Given the description of an element on the screen output the (x, y) to click on. 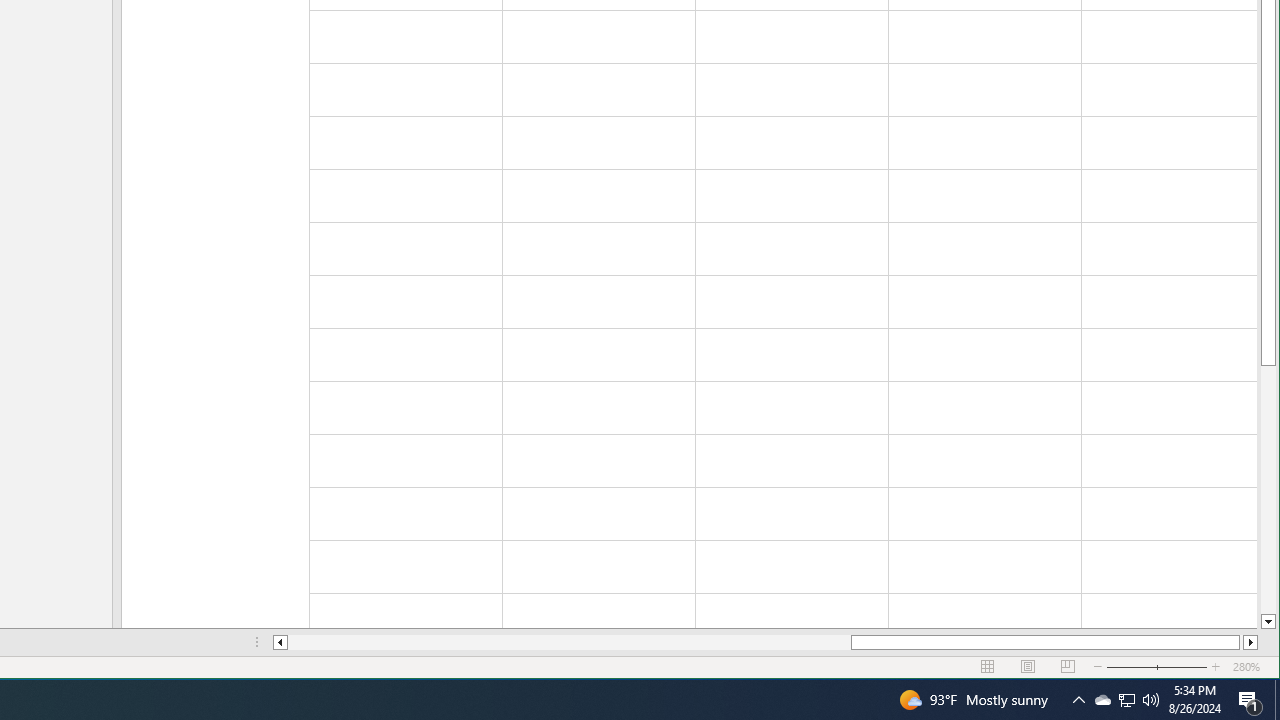
User Promoted Notification Area (1126, 699)
Action Center, 1 new notification (1250, 699)
Zoom In (1215, 667)
Page down (1268, 489)
Zoom Out (1144, 667)
Q2790: 100% (1151, 699)
Page Break Preview (1068, 667)
Zoom (1157, 667)
Normal (1102, 699)
Show desktop (987, 667)
Notification Chevron (1277, 699)
Column right (1078, 699)
